Given the description of an element on the screen output the (x, y) to click on. 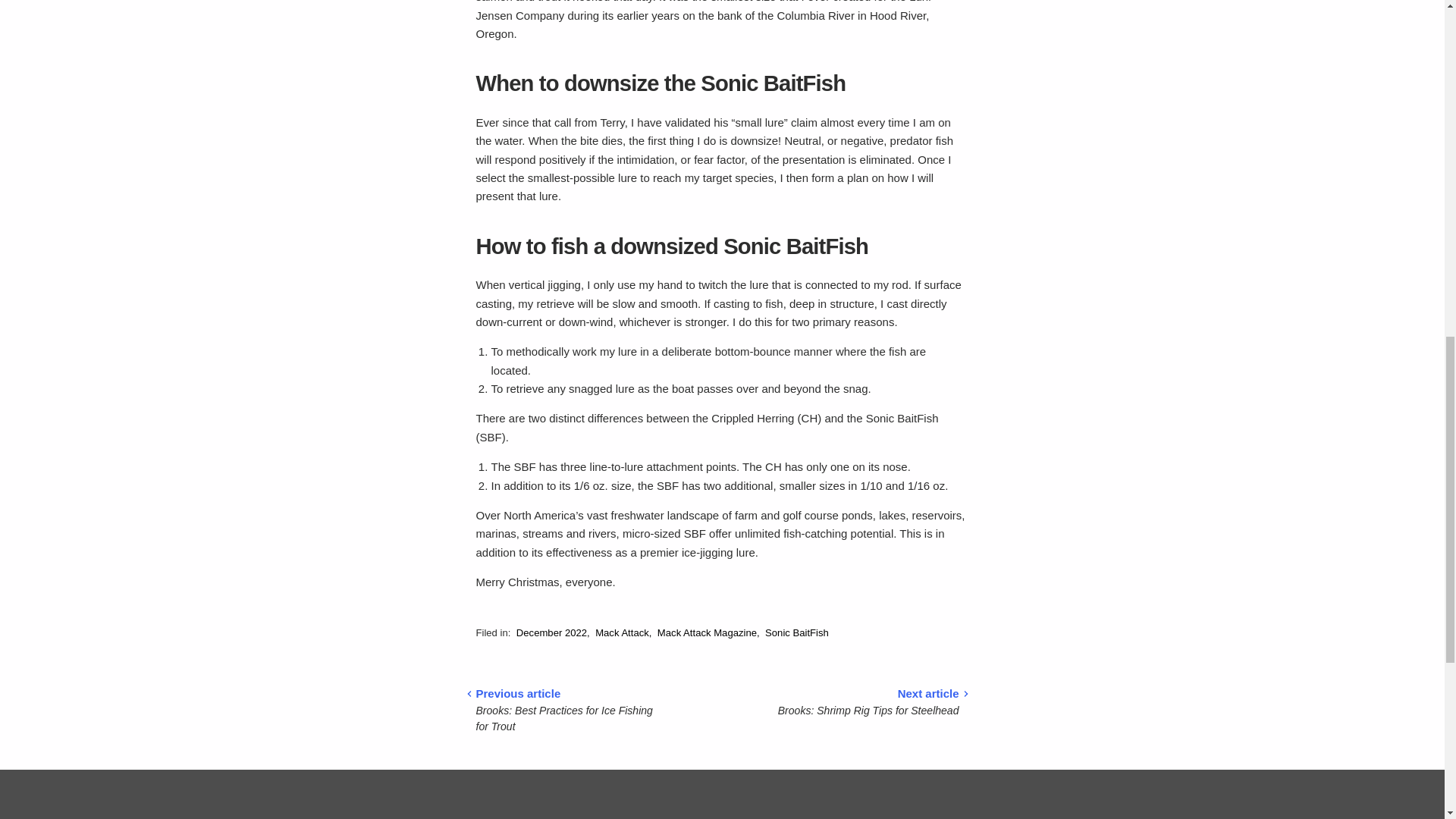
Show articles tagged Mack Attack (622, 632)
Show articles tagged Mack Attack Magazine (707, 632)
Show articles tagged December 2022 (551, 632)
Show articles tagged Sonic BaitFish (796, 632)
